Given the description of an element on the screen output the (x, y) to click on. 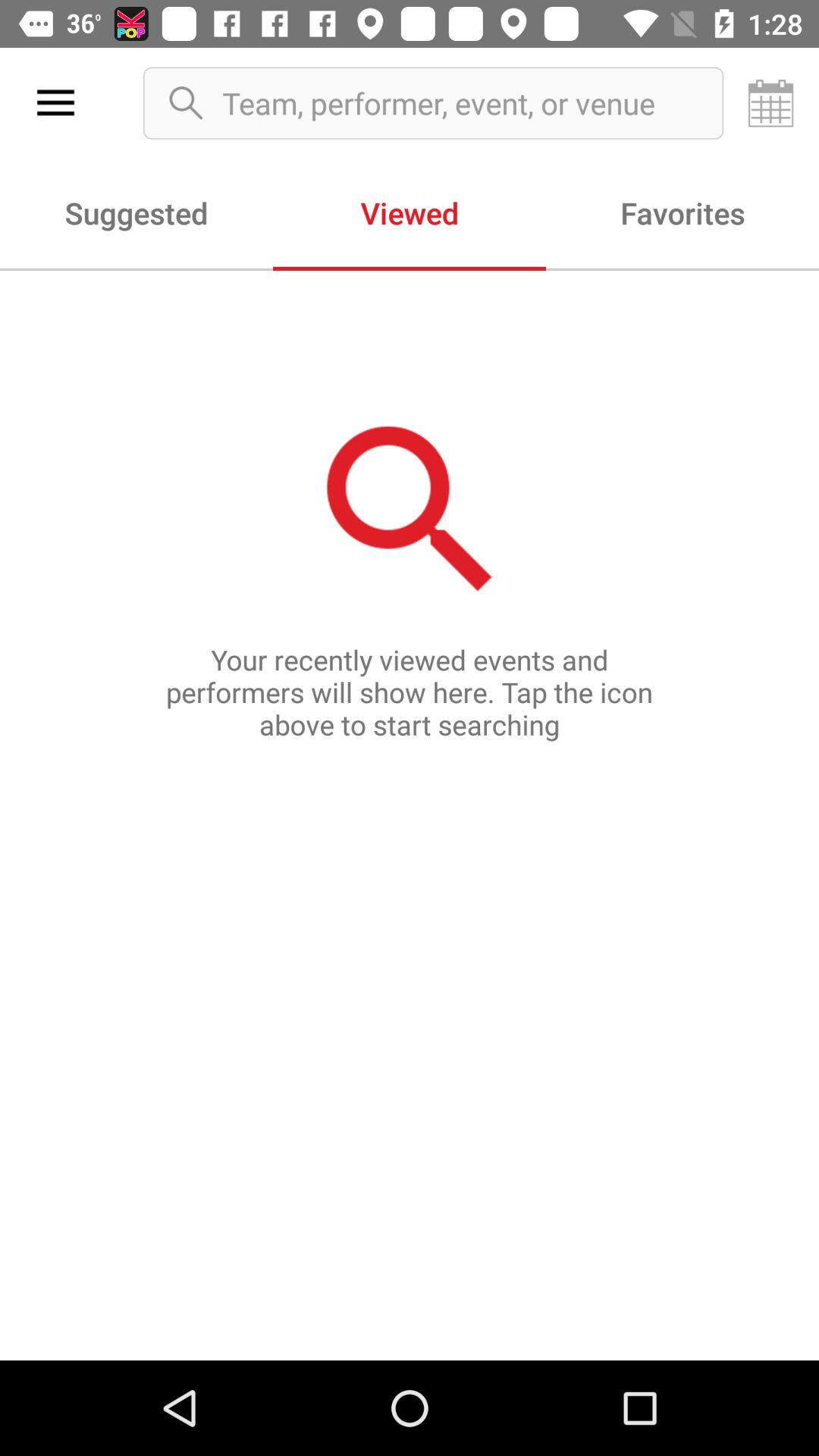
launch the item to the left of viewed (136, 212)
